Given the description of an element on the screen output the (x, y) to click on. 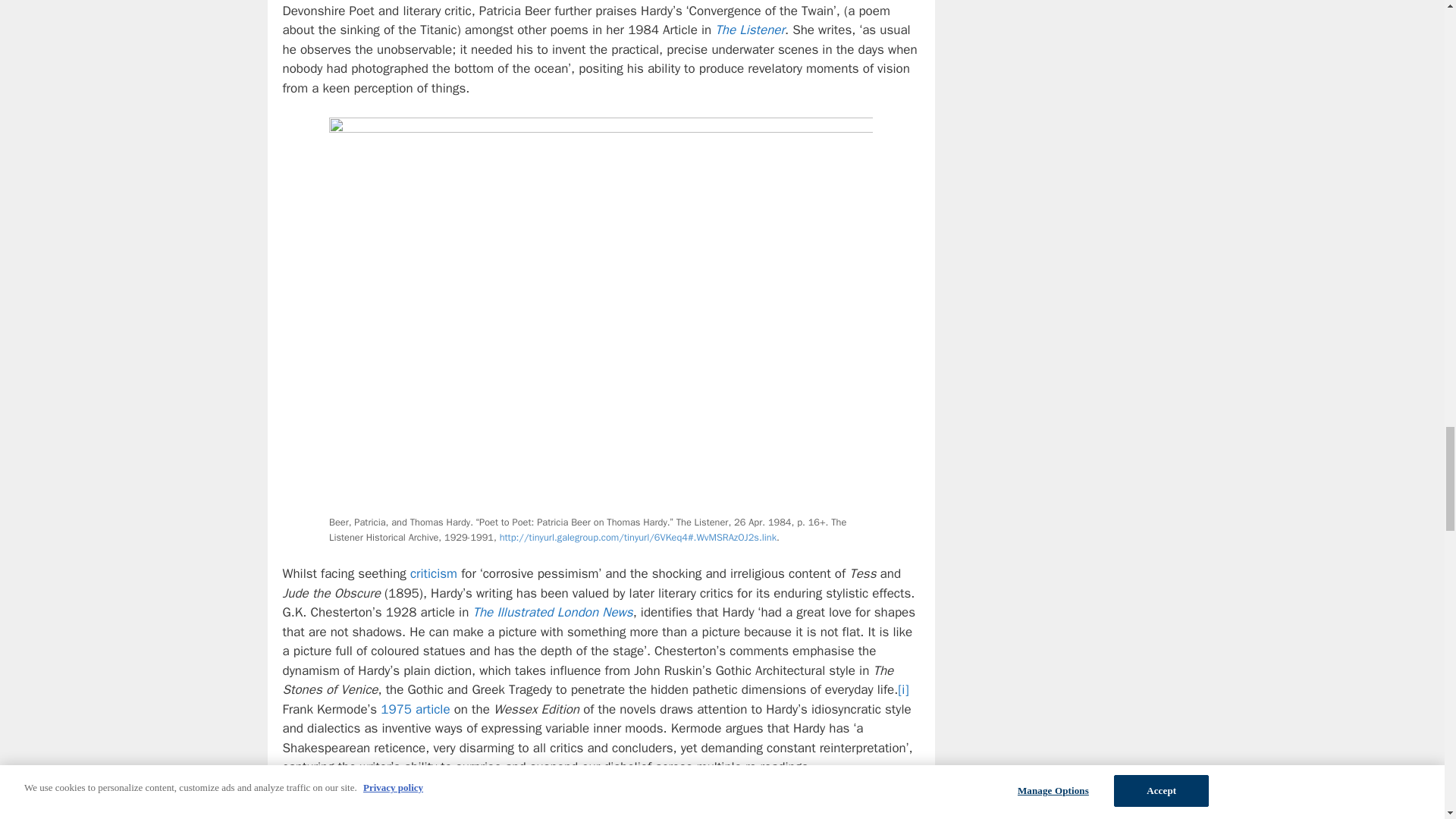
1975 article (414, 709)
The Illustrated London News (551, 611)
The Listener (749, 29)
criticism (433, 573)
